Given the description of an element on the screen output the (x, y) to click on. 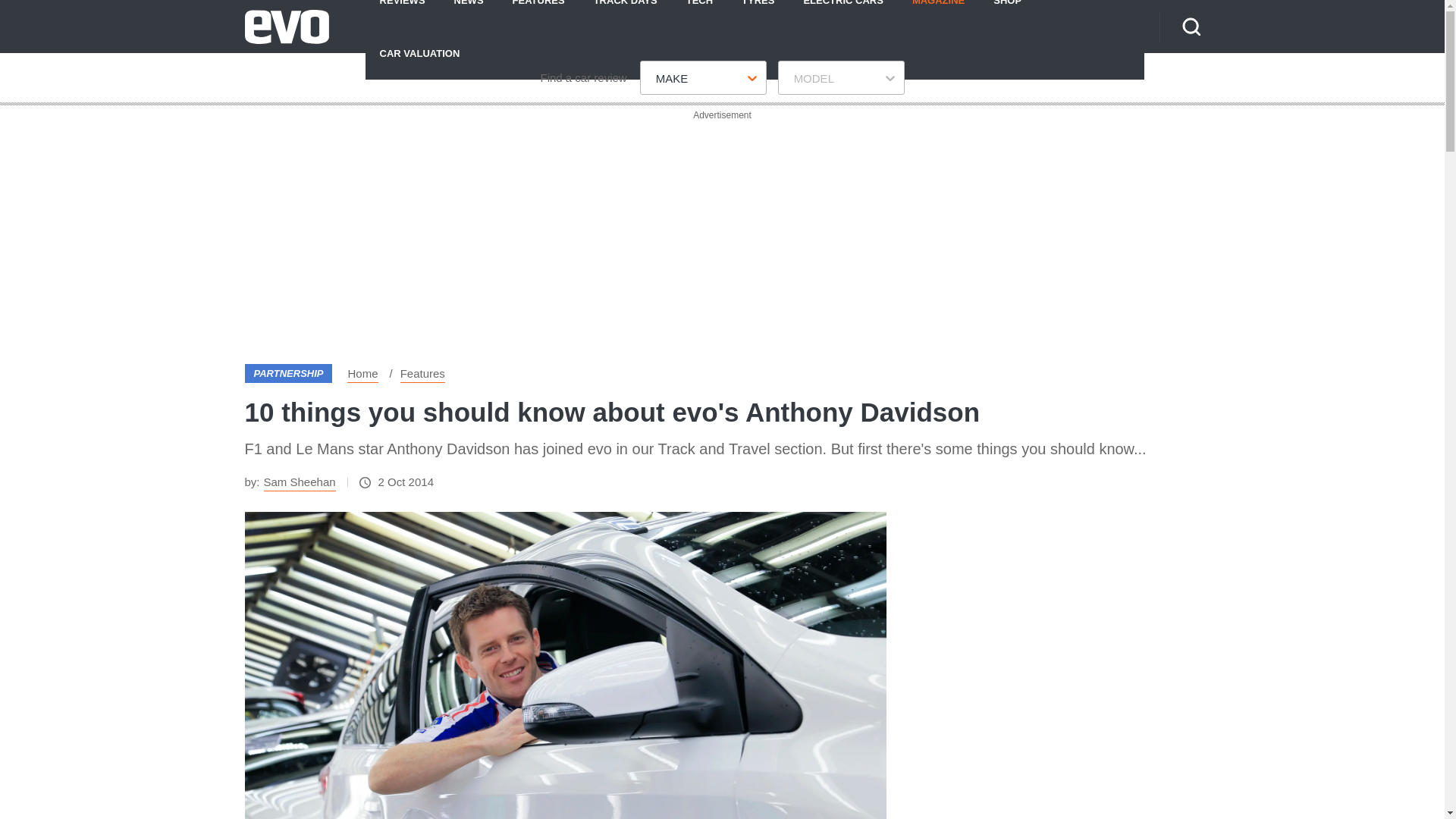
FEATURES (538, 13)
REVIEWS (402, 13)
TECH (698, 13)
Home (362, 373)
TYRES (757, 13)
SHOP (1006, 13)
Features (422, 373)
MAGAZINE (938, 13)
CAR VALUATION (419, 52)
Sam Sheehan (299, 482)
